Given the description of an element on the screen output the (x, y) to click on. 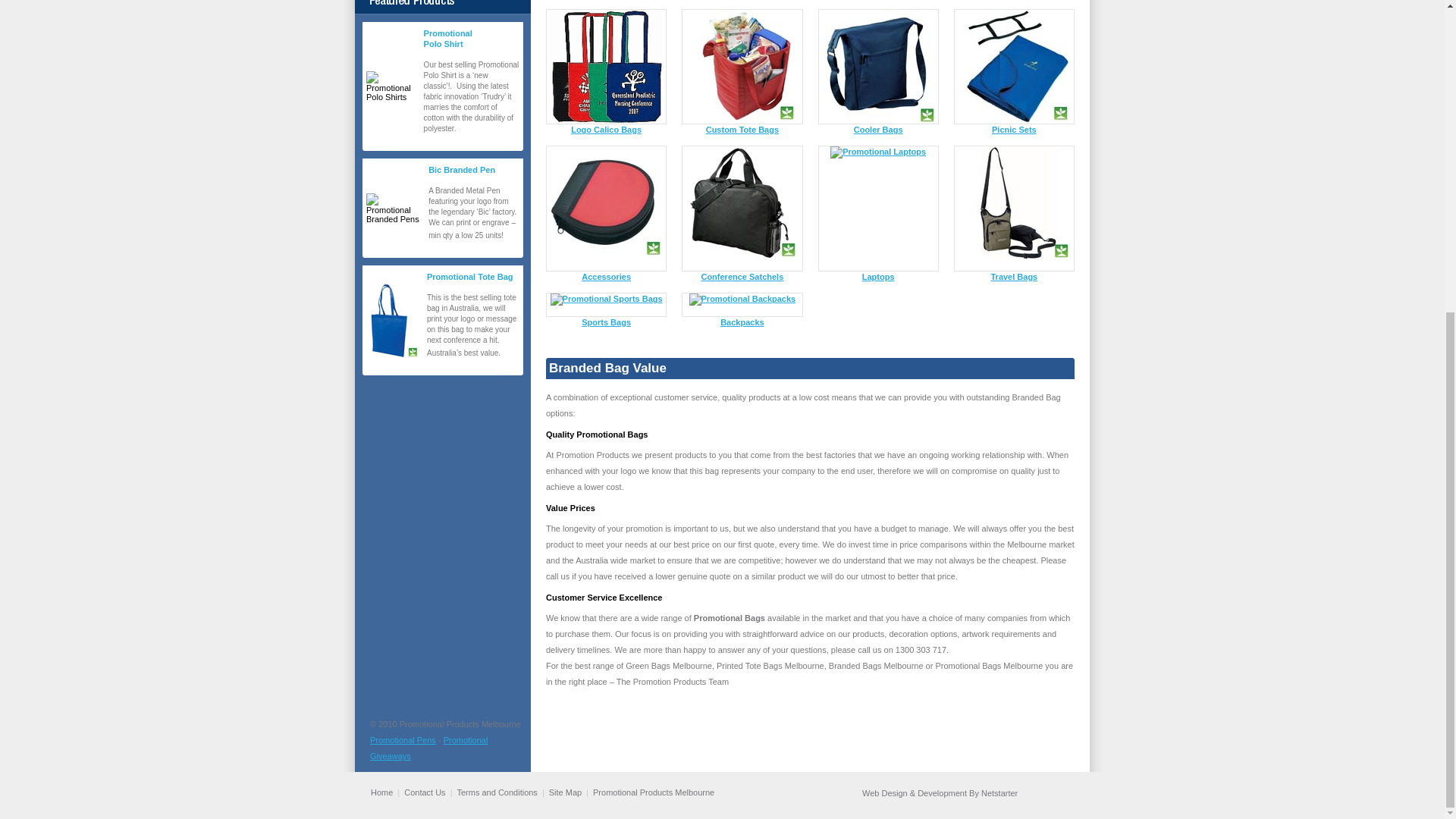
Backpacks (742, 321)
Sports Bags (605, 321)
Promotional Pens (402, 739)
Travel Bags (1013, 276)
Accessories (605, 276)
Picnic Sets (1013, 129)
Conference Satchels (741, 276)
Laptops (878, 276)
Custom Tote Bags (742, 129)
Cooler Bags (877, 129)
